Given the description of an element on the screen output the (x, y) to click on. 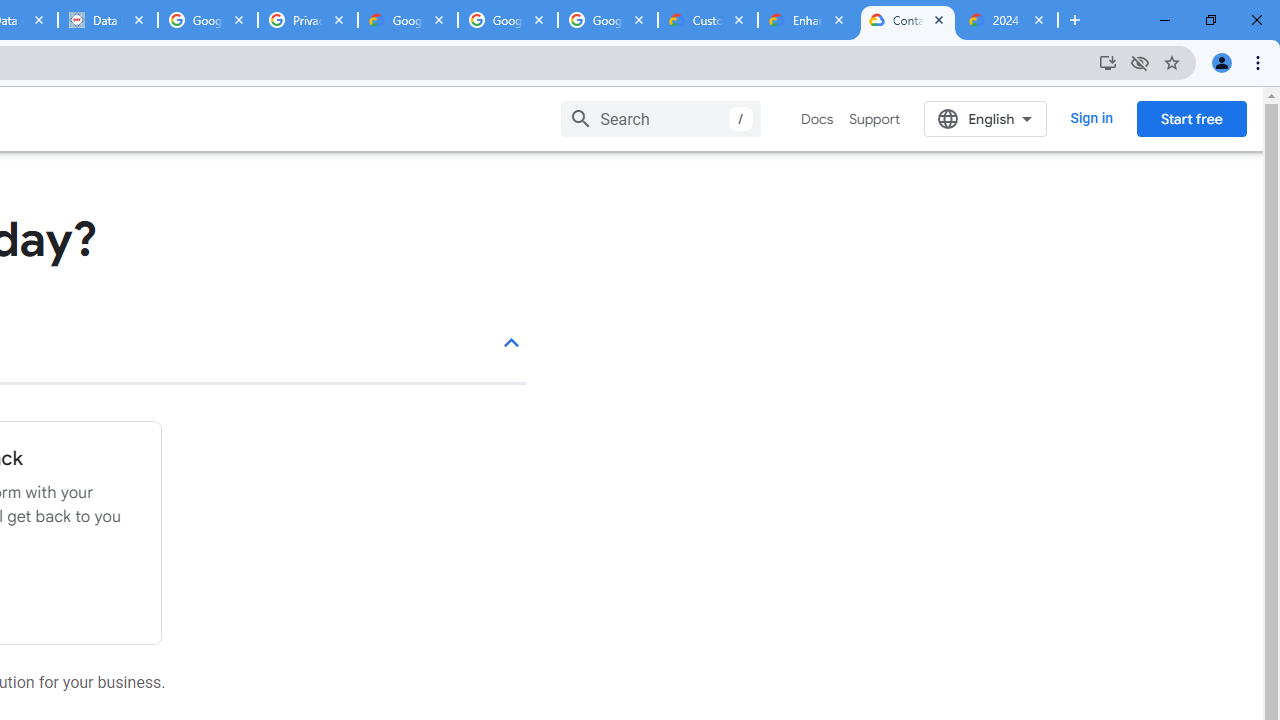
Google Cloud Terms Directory | Google Cloud (408, 20)
Support (874, 119)
Start free (1191, 118)
Docs (817, 119)
Data Privacy Framework (107, 20)
